Given the description of an element on the screen output the (x, y) to click on. 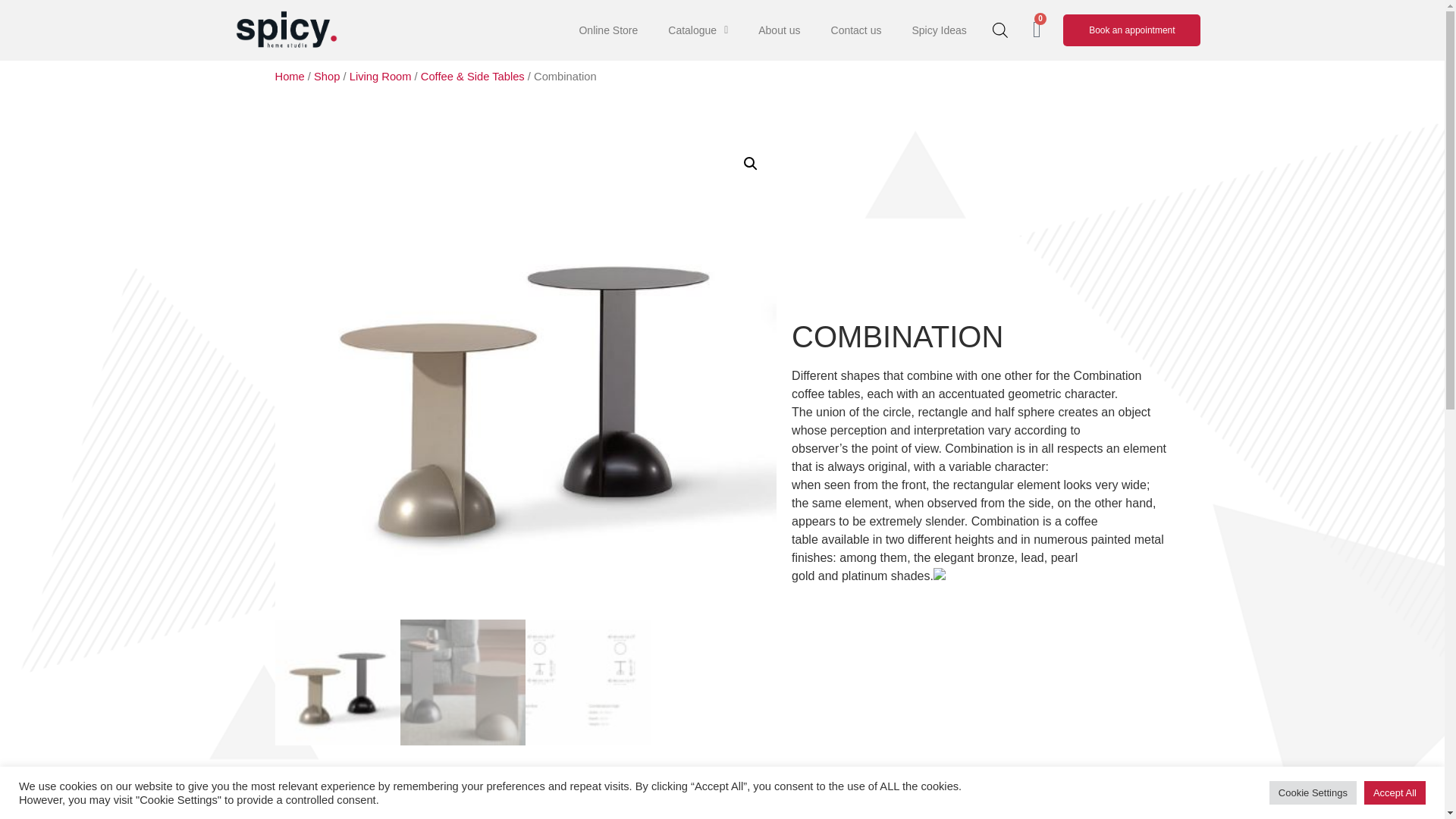
Spicy Ideas (938, 30)
Online Store (607, 30)
Contact us (855, 30)
Home (289, 76)
Shop (326, 76)
Book an appointment (1130, 29)
Living Room (380, 76)
About us (778, 30)
Catalogue (697, 30)
